Given the description of an element on the screen output the (x, y) to click on. 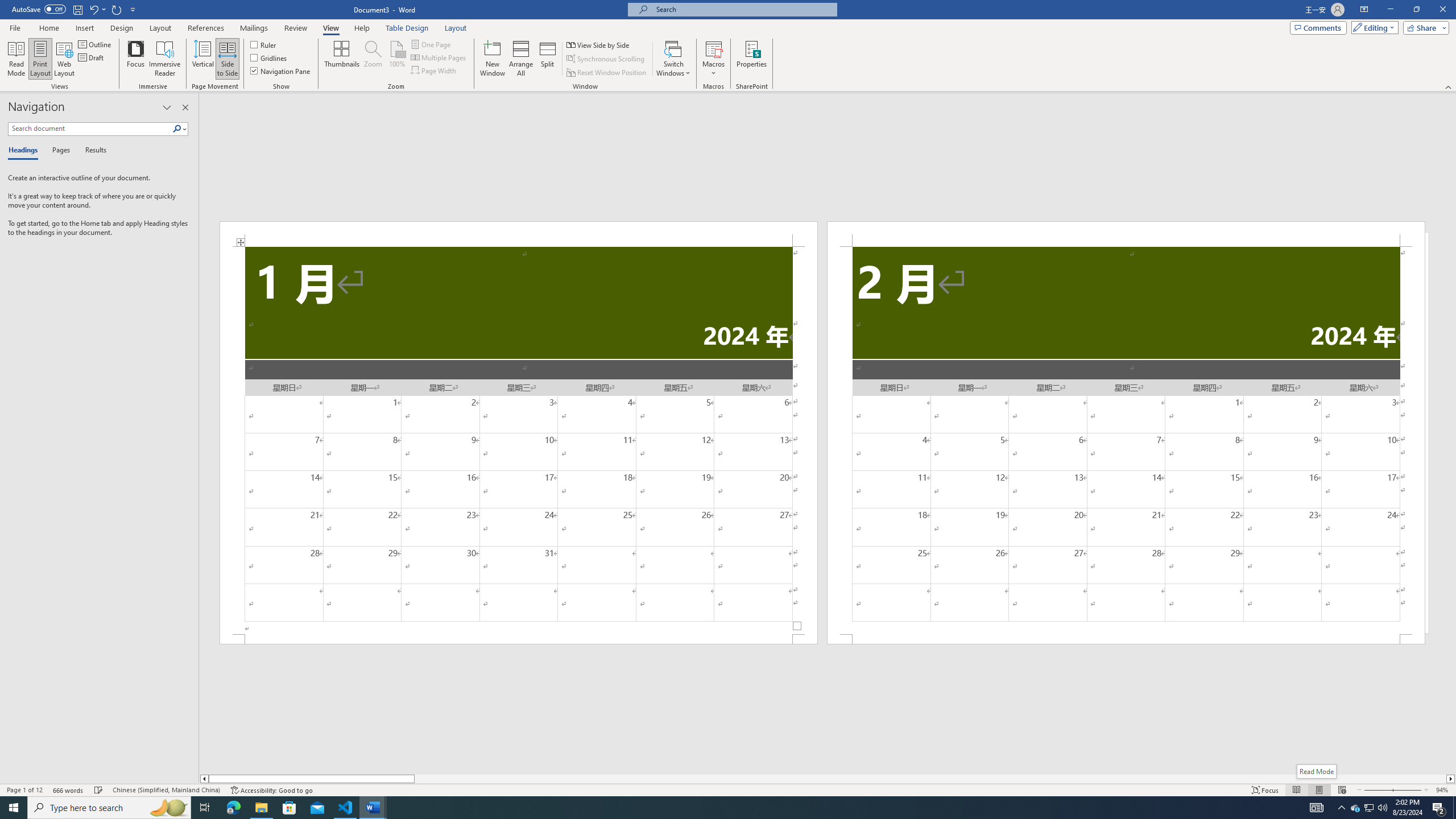
Page 1 content (518, 439)
Ruler (263, 44)
Macros (713, 58)
Arrange All (521, 58)
Navigation Pane (281, 69)
New Window (492, 58)
Mode (1372, 27)
